Given the description of an element on the screen output the (x, y) to click on. 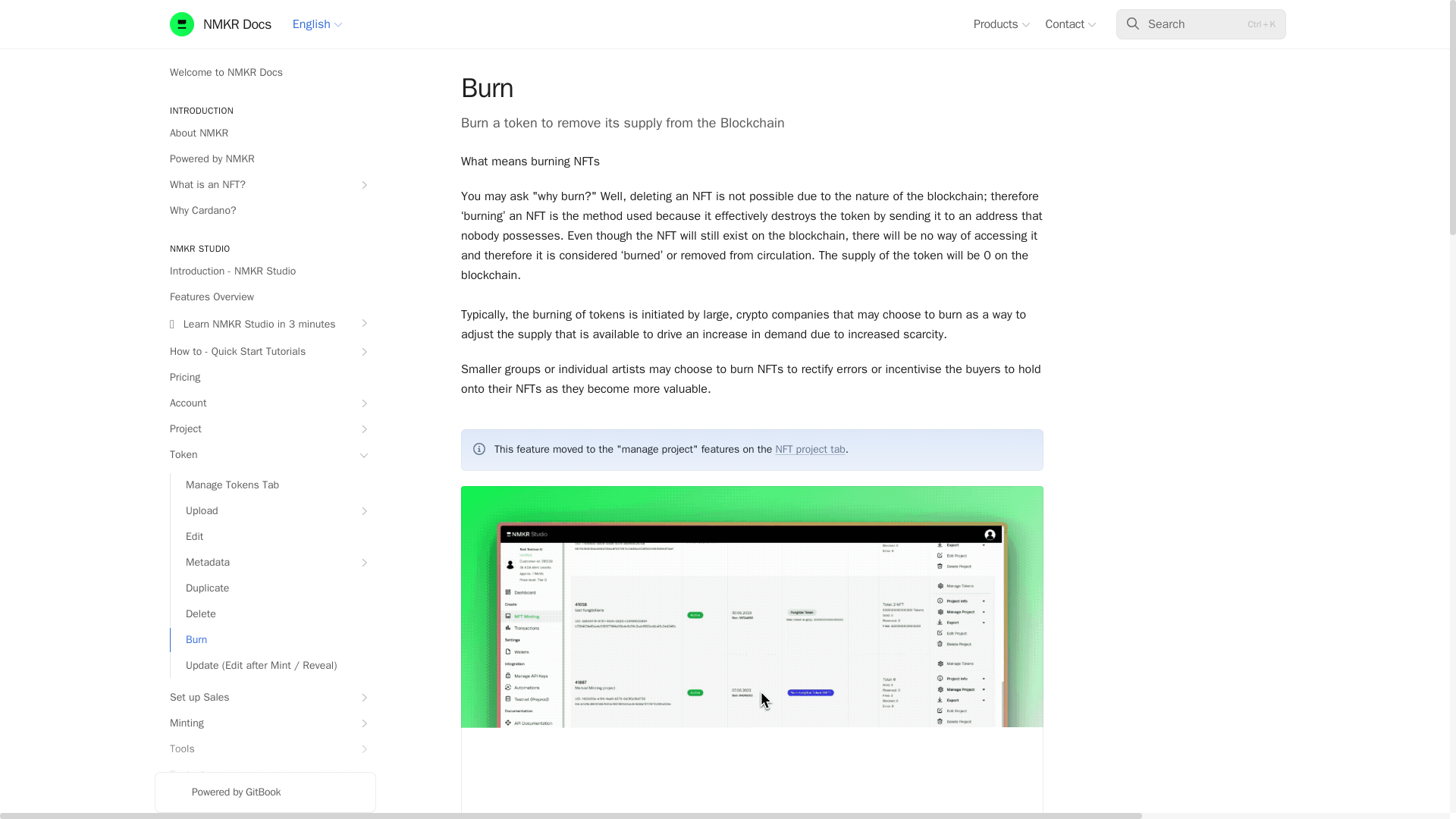
About NMKR (264, 133)
Introduction - NMKR Studio (264, 271)
Features Overview (264, 297)
Why Cardano? (264, 210)
Products (1001, 24)
How to - Quick Start Tutorials (264, 351)
What is an NFT? (264, 184)
Pricing (264, 377)
Contact (1070, 24)
Powered by NMKR (264, 159)
